Given the description of an element on the screen output the (x, y) to click on. 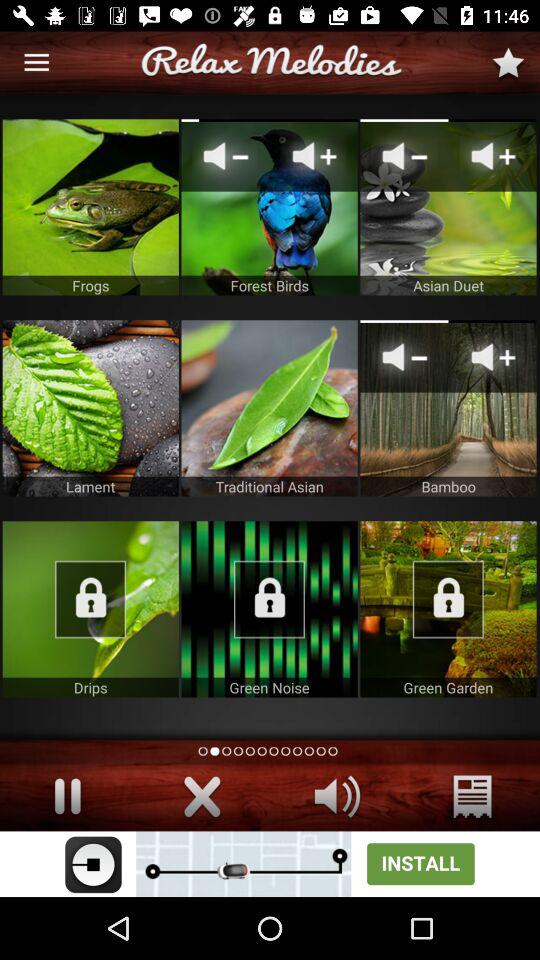
shows sound icon (337, 796)
